Given the description of an element on the screen output the (x, y) to click on. 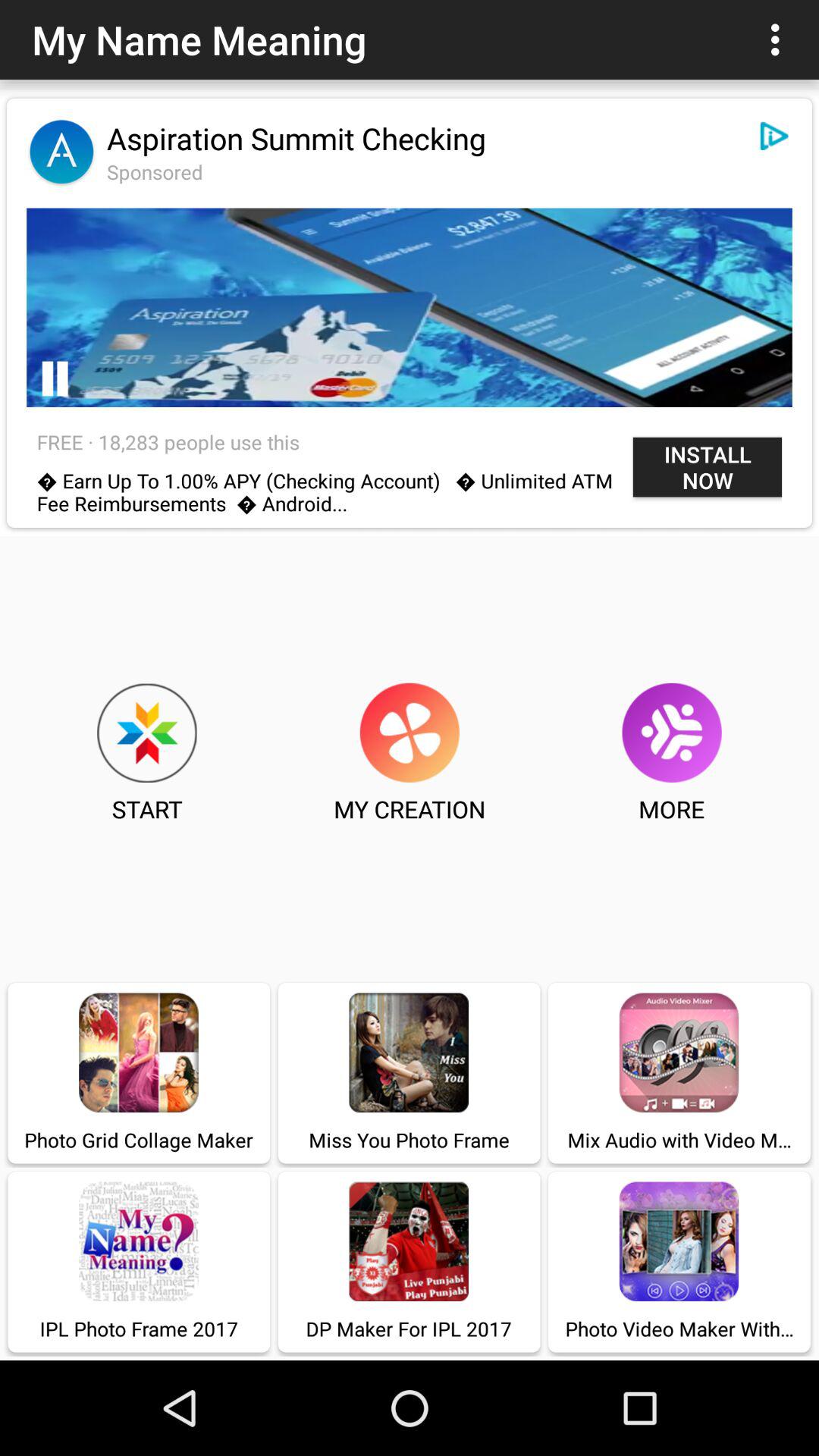
pause video (54, 378)
